Given the description of an element on the screen output the (x, y) to click on. 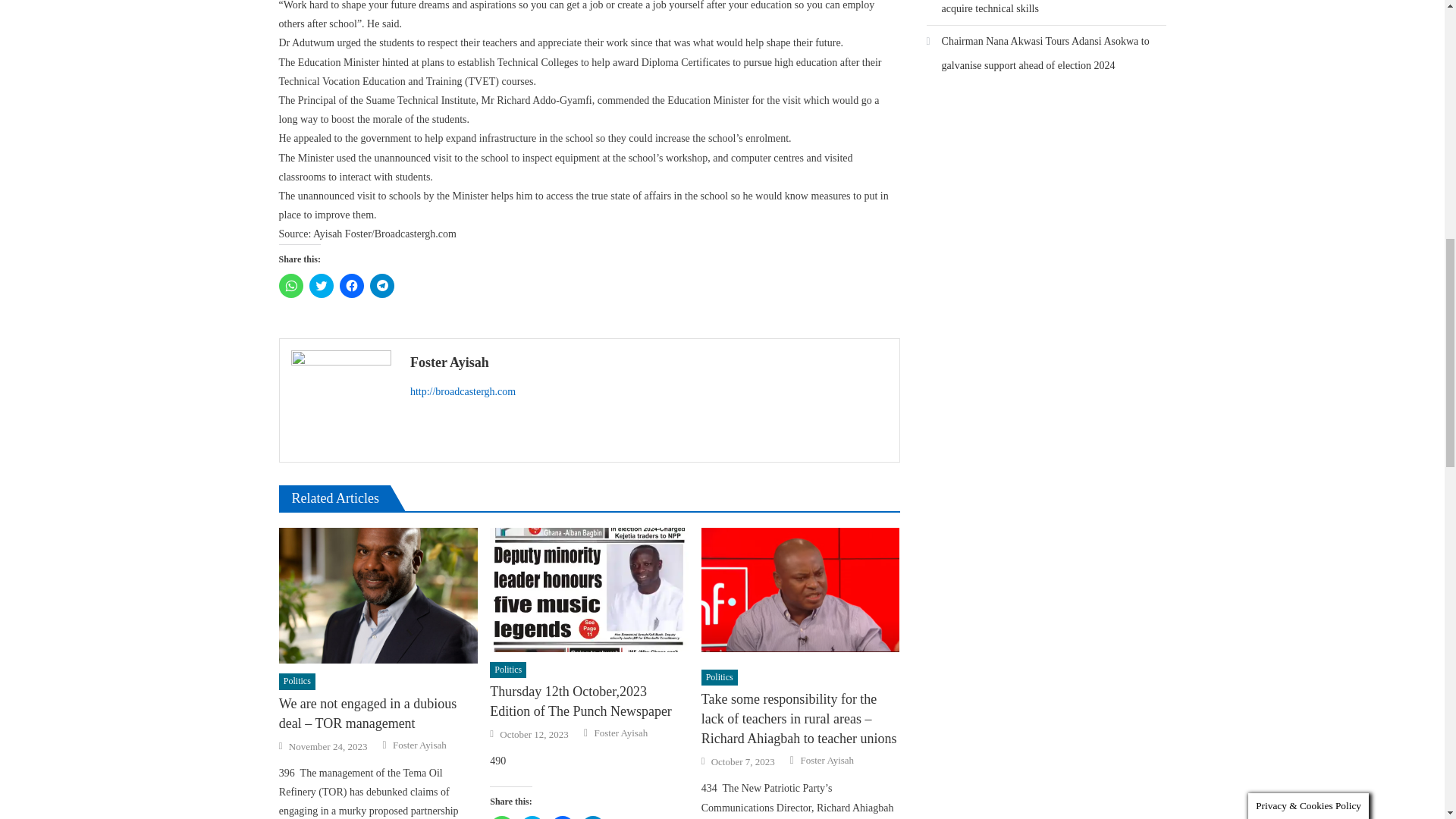
November 24, 2023 (328, 746)
Politics (297, 681)
Thursday 12th October,2023 Edition of The Punch Newspaper (588, 701)
Click to share on WhatsApp (290, 285)
Click to share on Facebook (562, 817)
Click to share on Telegram (592, 817)
October 12, 2023 (534, 735)
Click to share on Telegram (381, 285)
Click to share on Twitter (320, 285)
Foster Ayisah (649, 362)
